Given the description of an element on the screen output the (x, y) to click on. 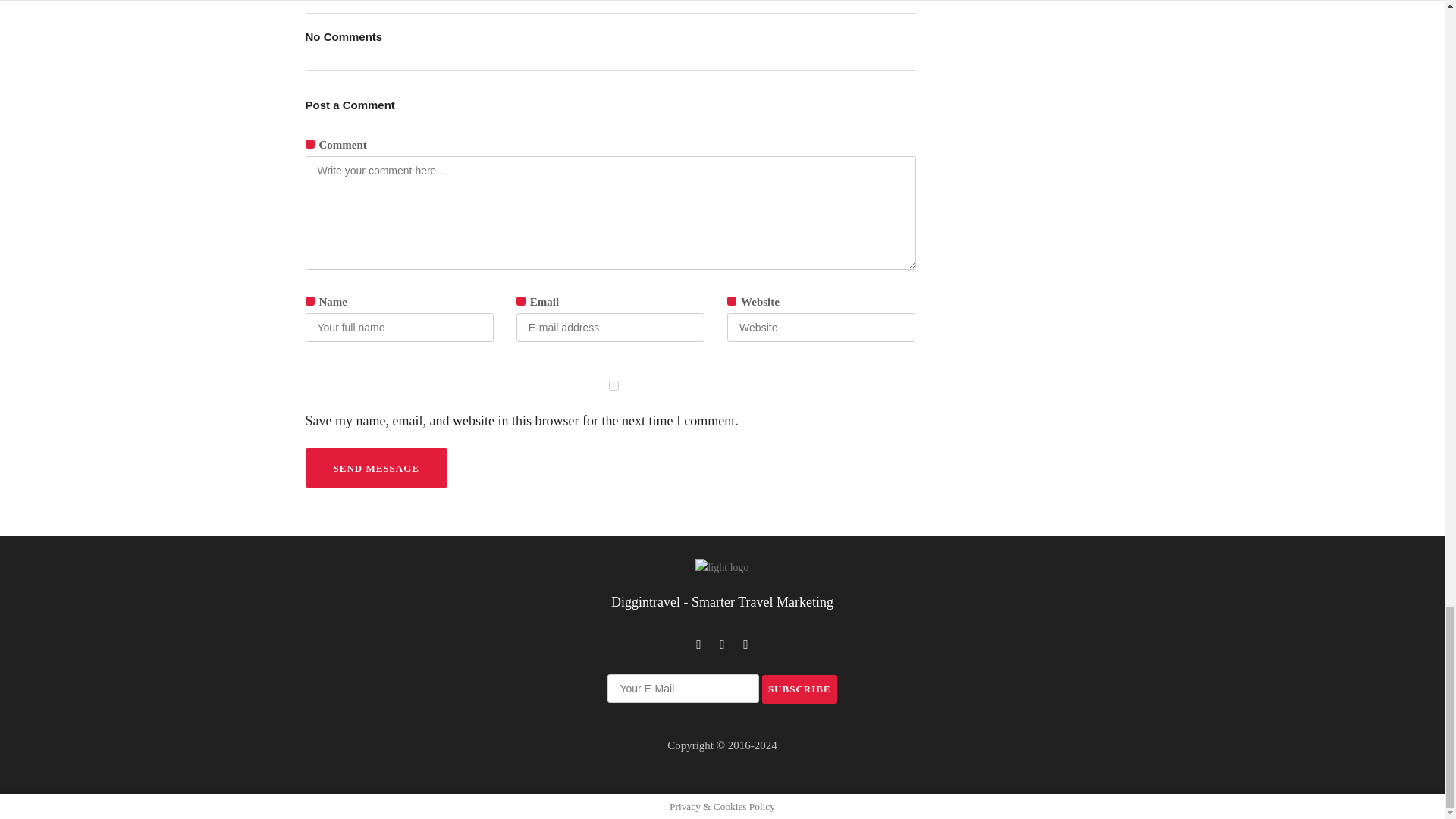
Subscribe (799, 688)
yes (612, 385)
Send message (375, 467)
